Given the description of an element on the screen output the (x, y) to click on. 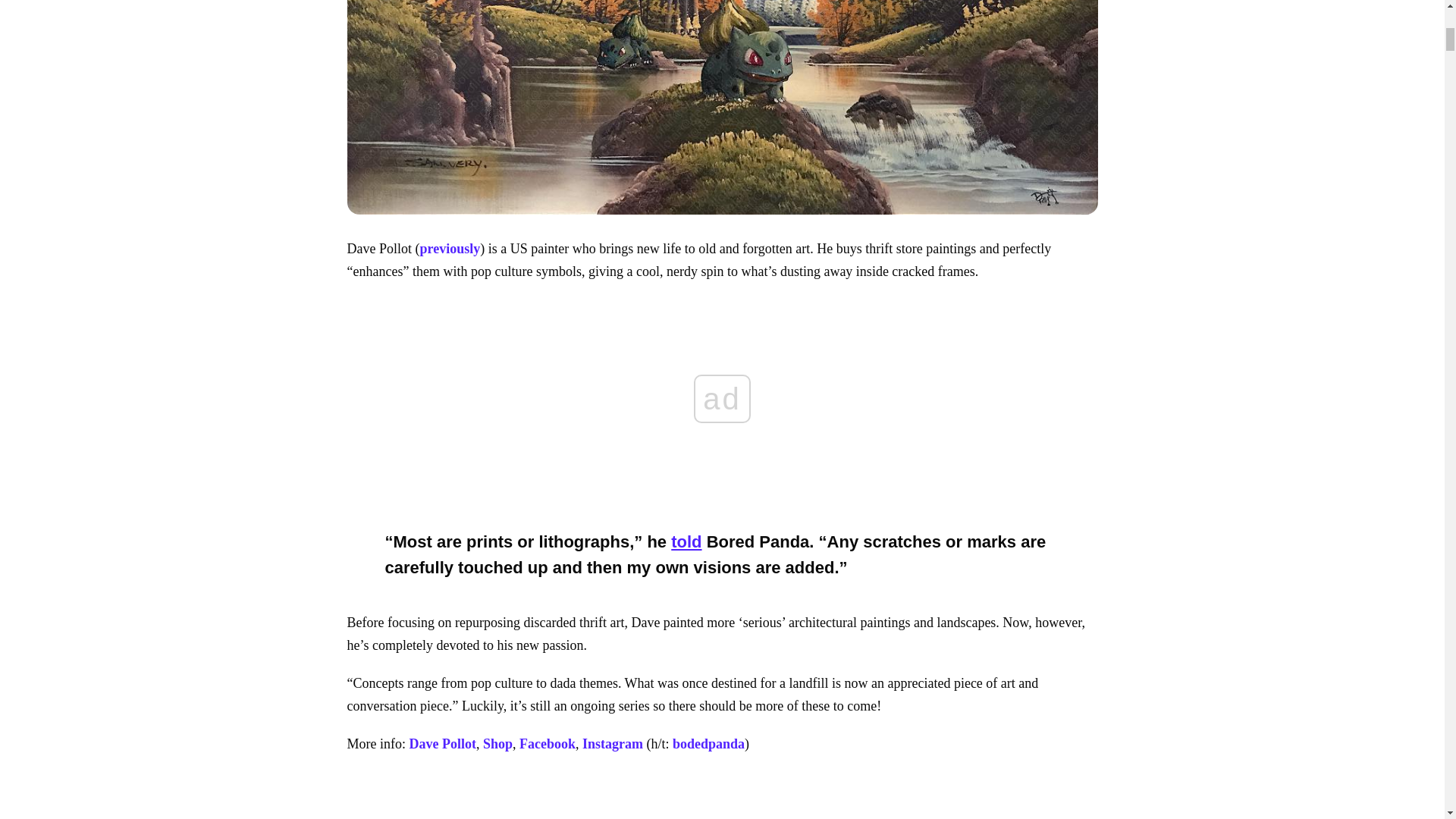
Shop (497, 743)
bodedpanda (708, 743)
Instagram (612, 743)
previously (450, 248)
told (686, 541)
Dave Pollot (442, 743)
Facebook (547, 743)
